Given the description of an element on the screen output the (x, y) to click on. 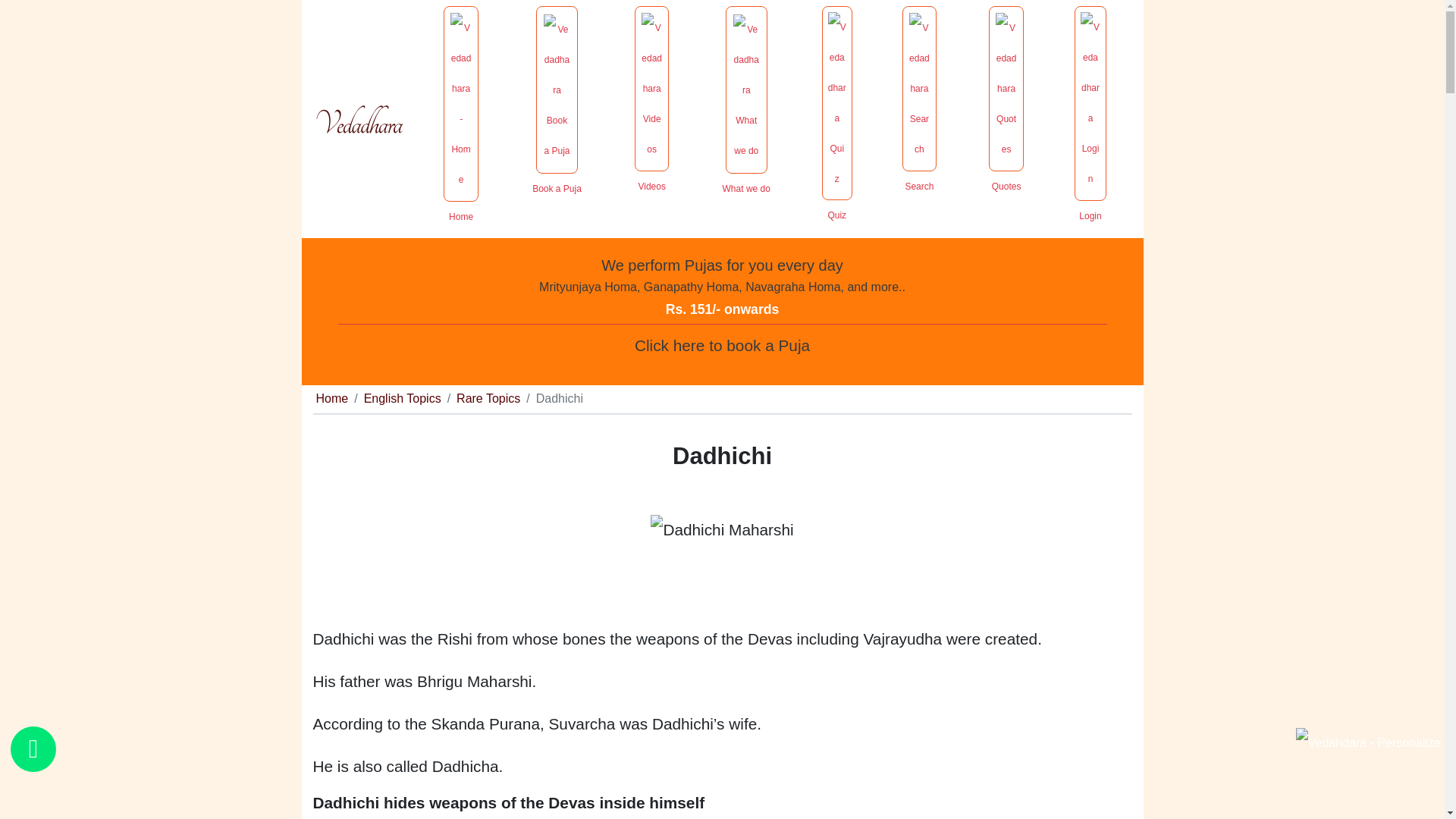
Send message on Whatsapp (33, 749)
Rare Topics (488, 398)
Home (331, 398)
